Given the description of an element on the screen output the (x, y) to click on. 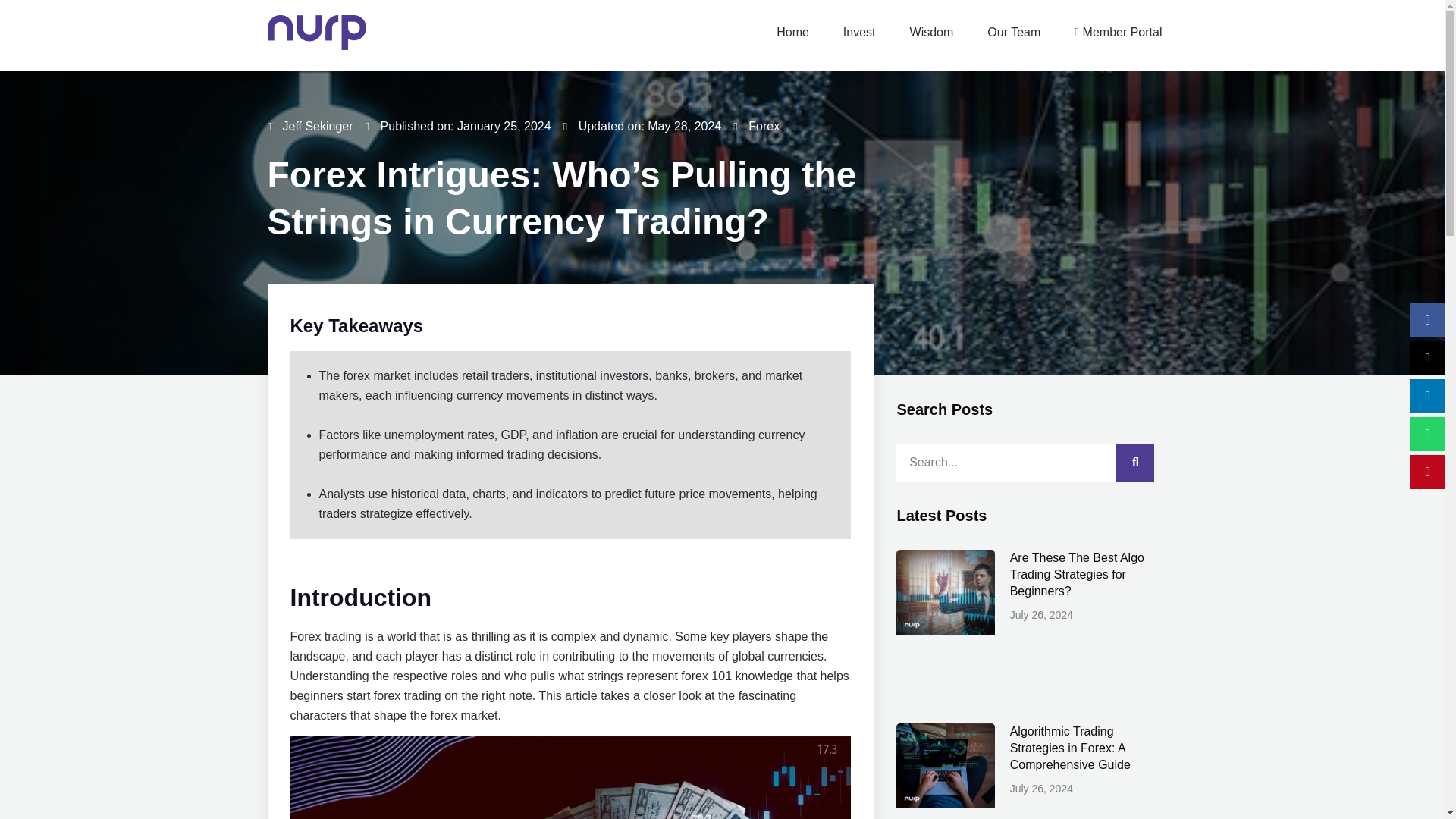
Wisdom (932, 32)
 Member Portal (1117, 32)
Home (792, 32)
Jeff Sekinger (309, 126)
Forex (763, 125)
Are These The Best Algo Trading Strategies for Beginners? (1077, 574)
Invest (859, 32)
Our Team (1013, 32)
